Given the description of an element on the screen output the (x, y) to click on. 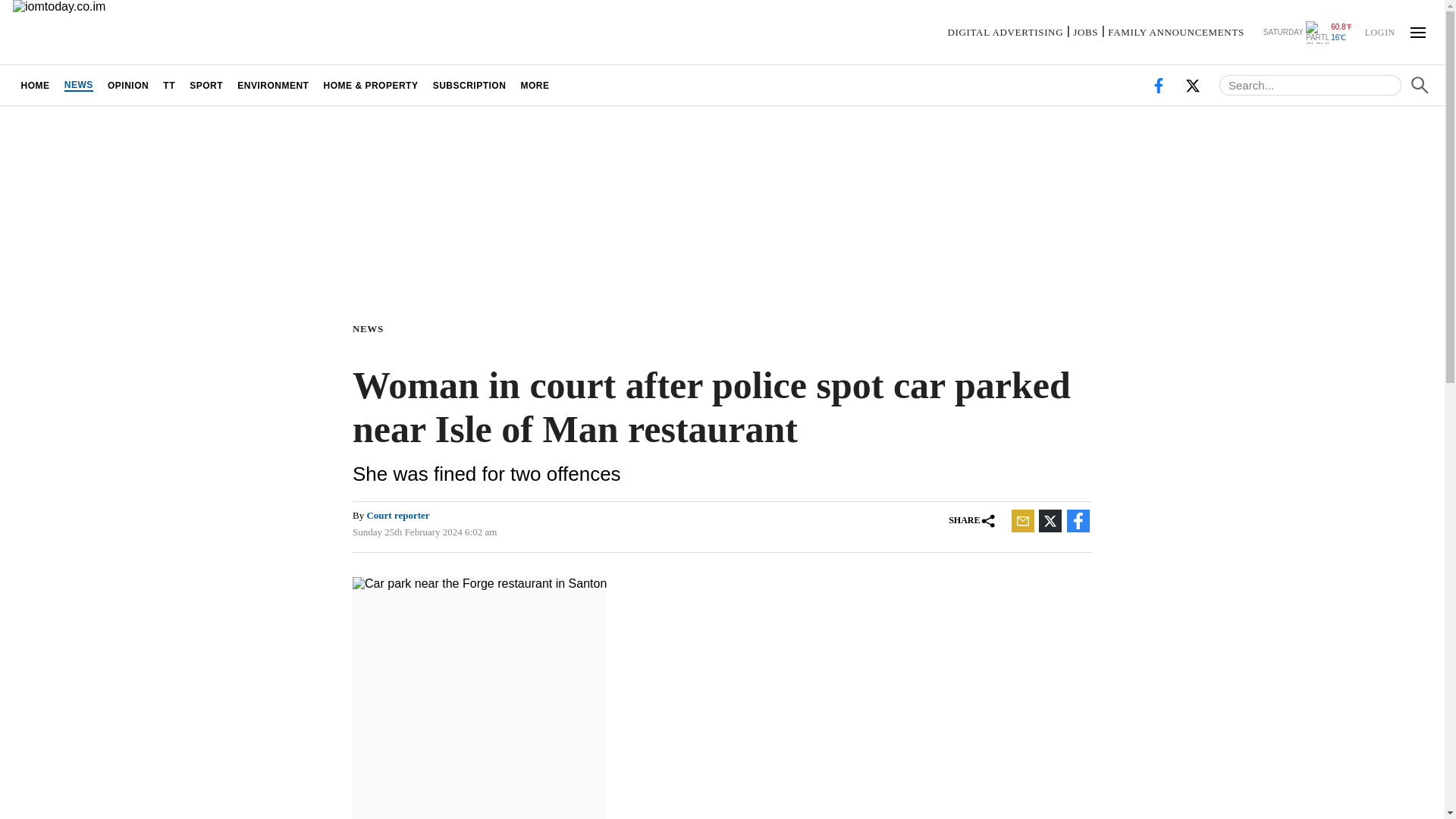
OPINION (127, 85)
SPORT (206, 85)
FAMILY ANNOUNCEMENTS (1176, 32)
LOGIN (1379, 31)
ENVIRONMENT (272, 85)
NEWS (78, 85)
HOME (34, 85)
SUBSCRIPTION (469, 85)
Court reporter (397, 514)
MORE (534, 85)
